Given the description of an element on the screen output the (x, y) to click on. 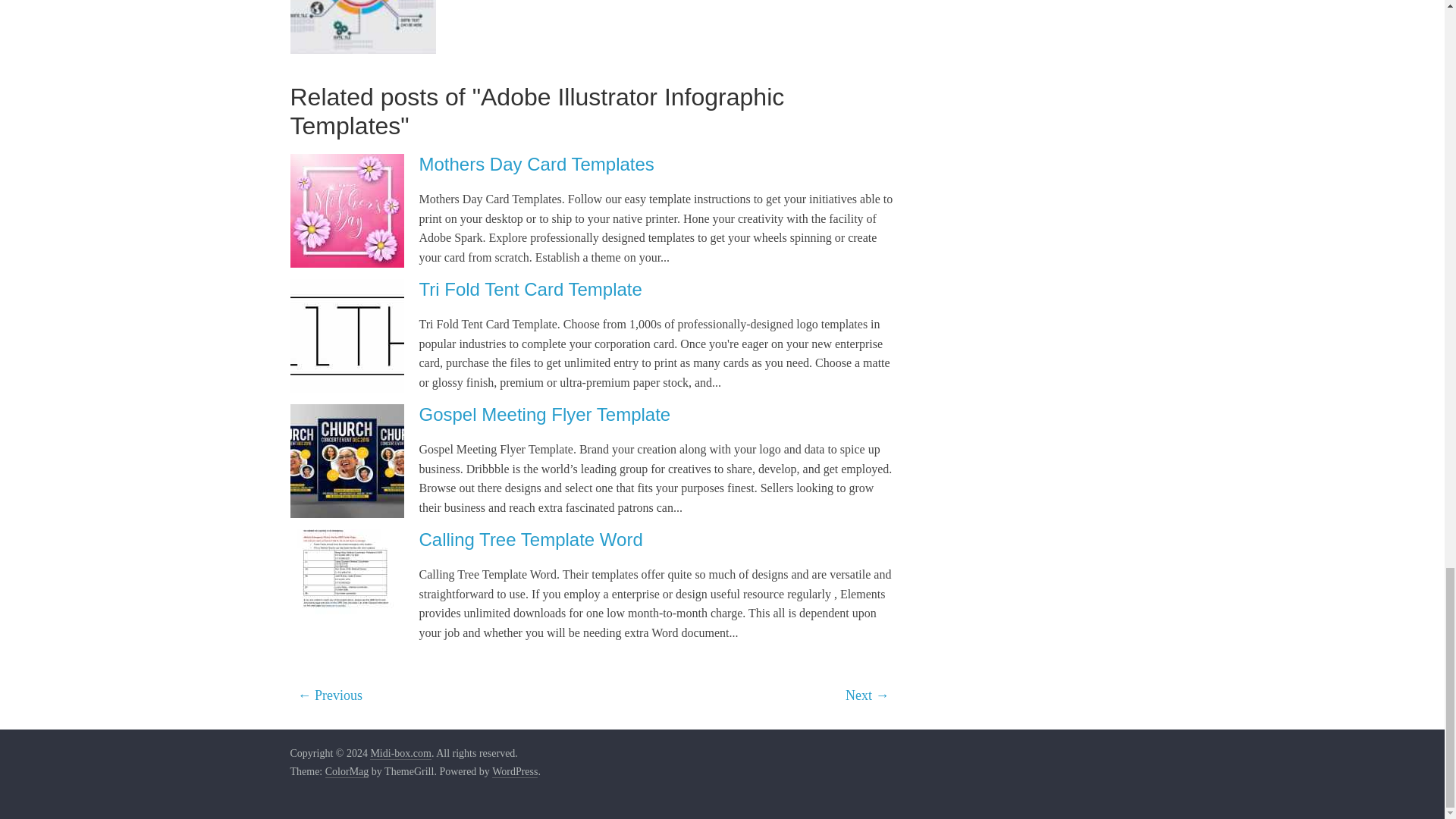
Midi-box.com (399, 753)
WordPress (514, 771)
Calling Tree Template Word (530, 539)
ColorMag (346, 771)
Gospel Meeting Flyer Template (544, 414)
Tri Fold Tent Card Template (530, 289)
Mothers Day Card Templates (536, 163)
